Given the description of an element on the screen output the (x, y) to click on. 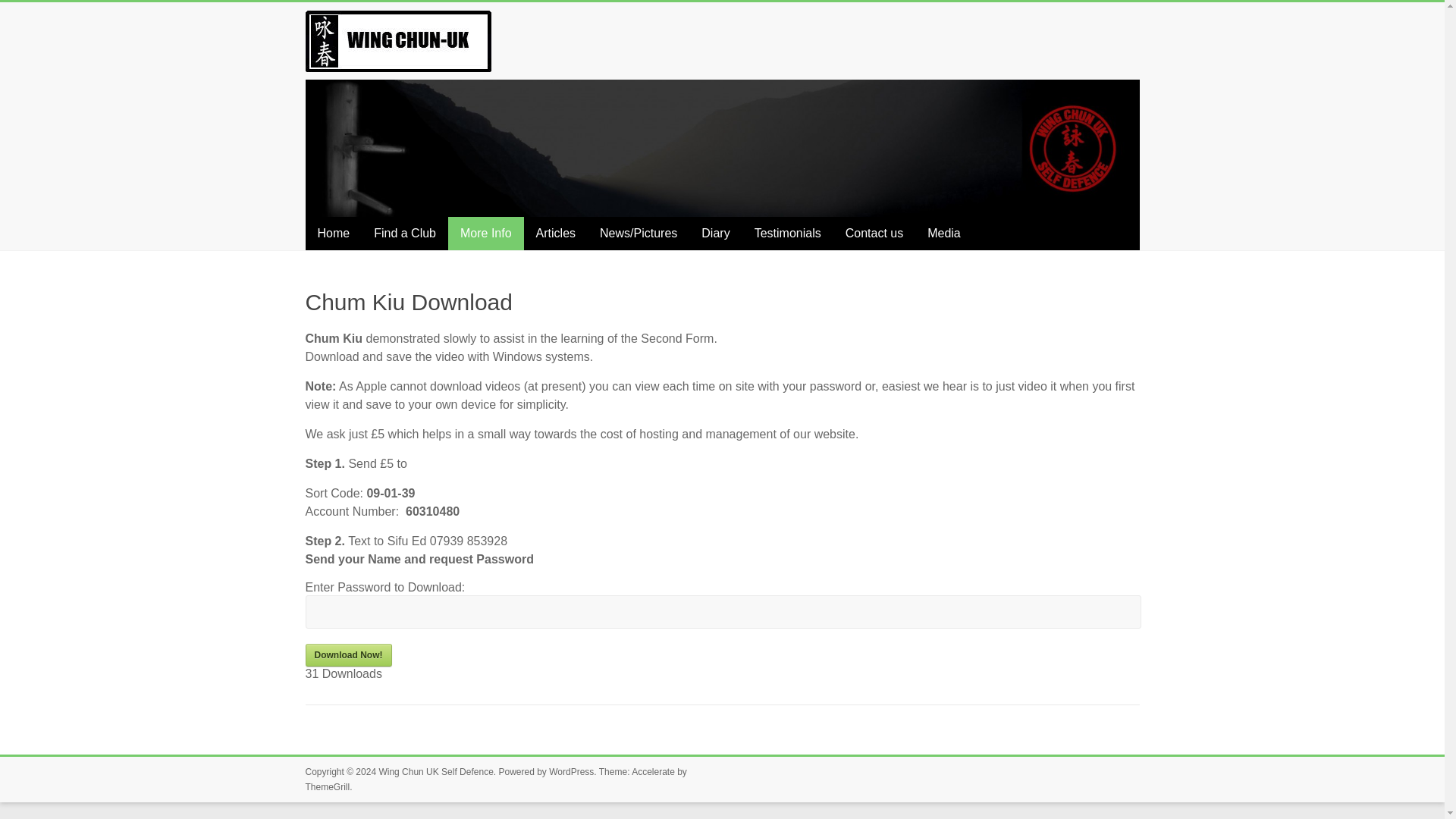
Articles (556, 233)
Media (943, 233)
ThemeGrill (326, 787)
ThemeGrill (326, 787)
More Info (486, 233)
Contact us (873, 233)
WordPress (571, 771)
Wing Chun UK Self Defence (435, 771)
Testimonials (787, 233)
Wing Chun UK Self Defence (397, 9)
